Given the description of an element on the screen output the (x, y) to click on. 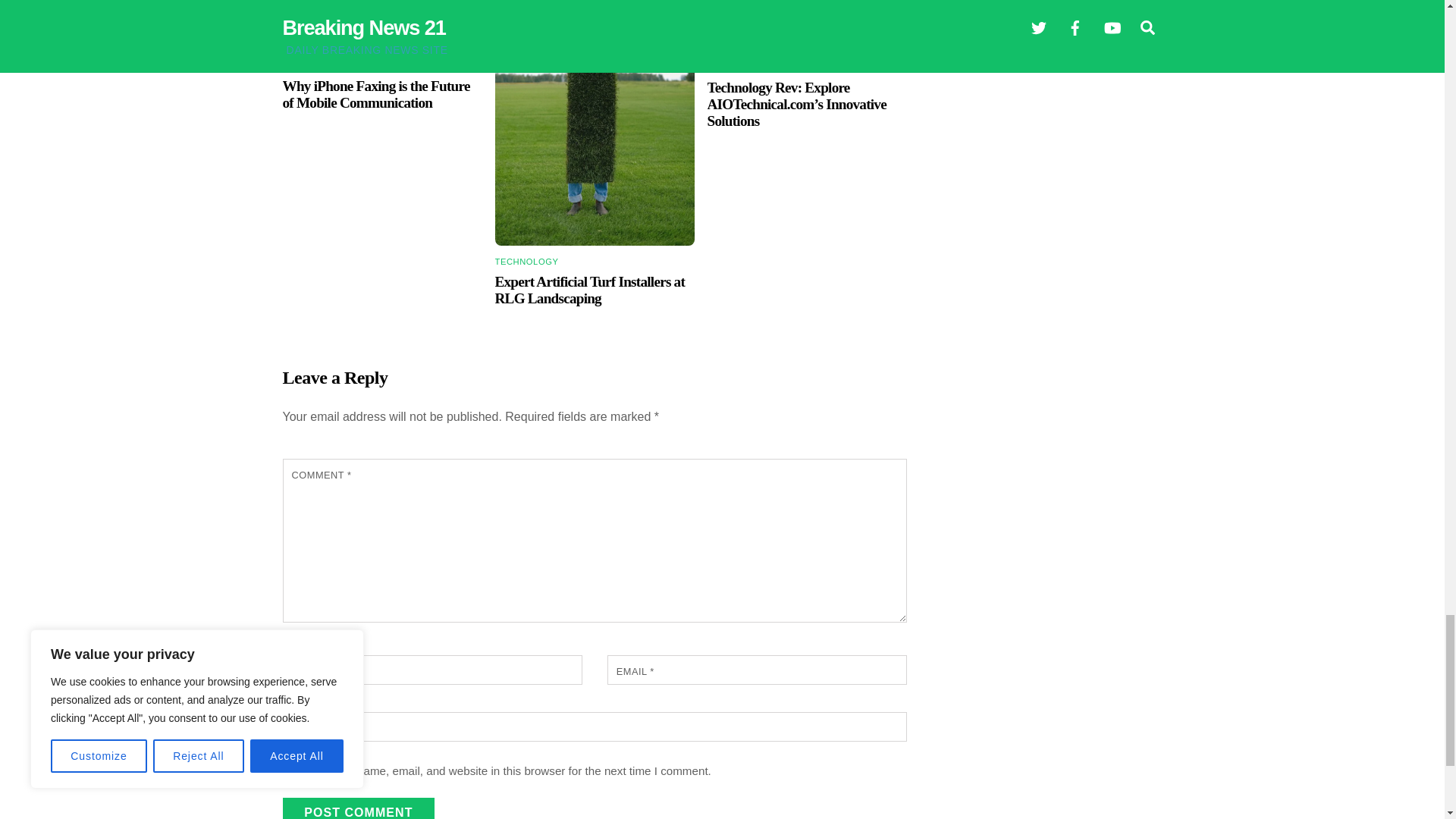
TECHNOLOGY (314, 66)
TECHNOLOGY (527, 261)
Why iPhone Faxing is the Future of Mobile Communication (375, 93)
Expert Artificial Turf Installers at RLG Landscaping (590, 289)
Post Comment (357, 808)
yes (290, 771)
Why iPhone Faxing is the Future of Mobile Communication (381, 25)
